Given the description of an element on the screen output the (x, y) to click on. 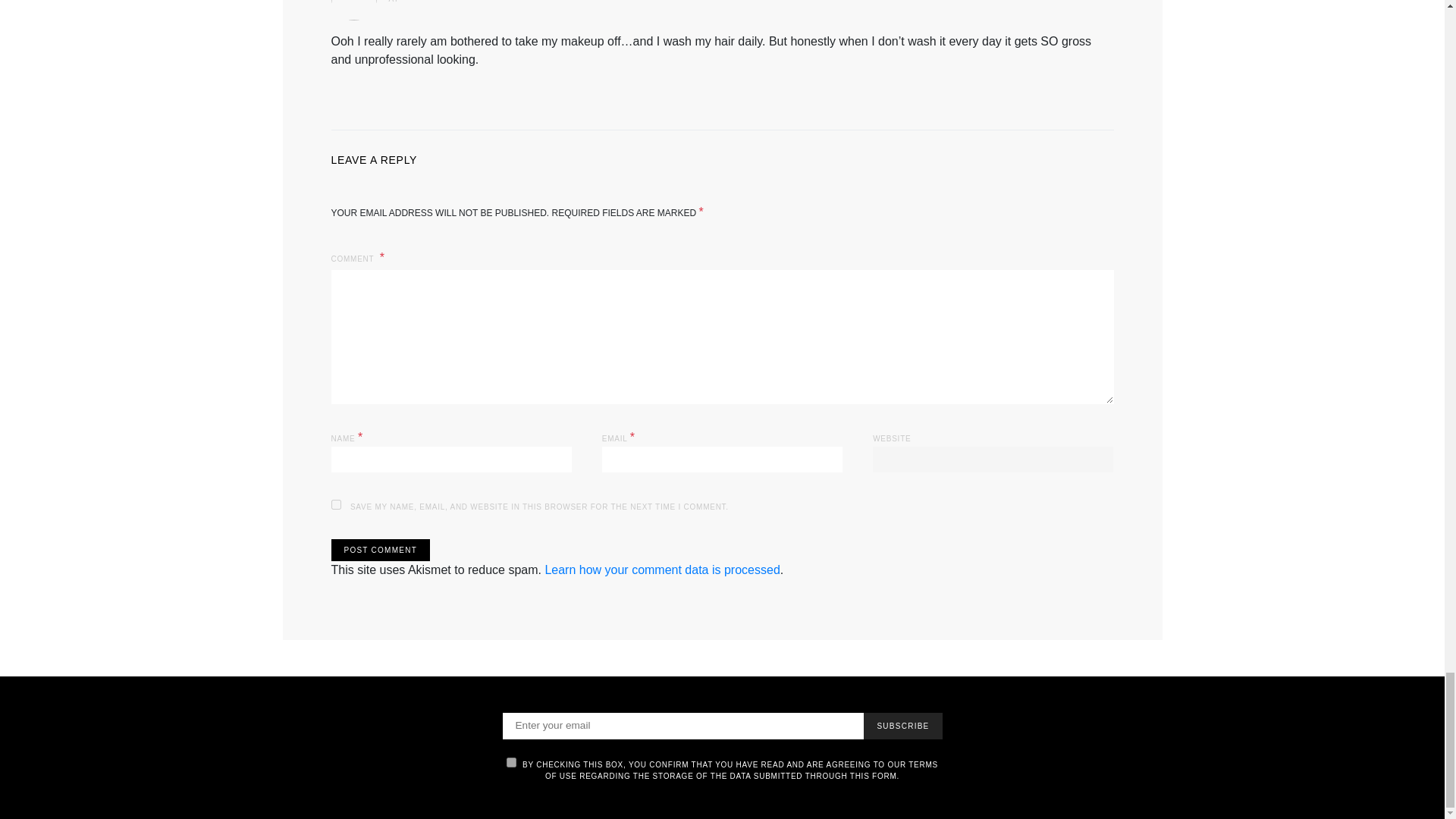
yes (335, 504)
Post Comment (379, 549)
on (511, 762)
